Given the description of an element on the screen output the (x, y) to click on. 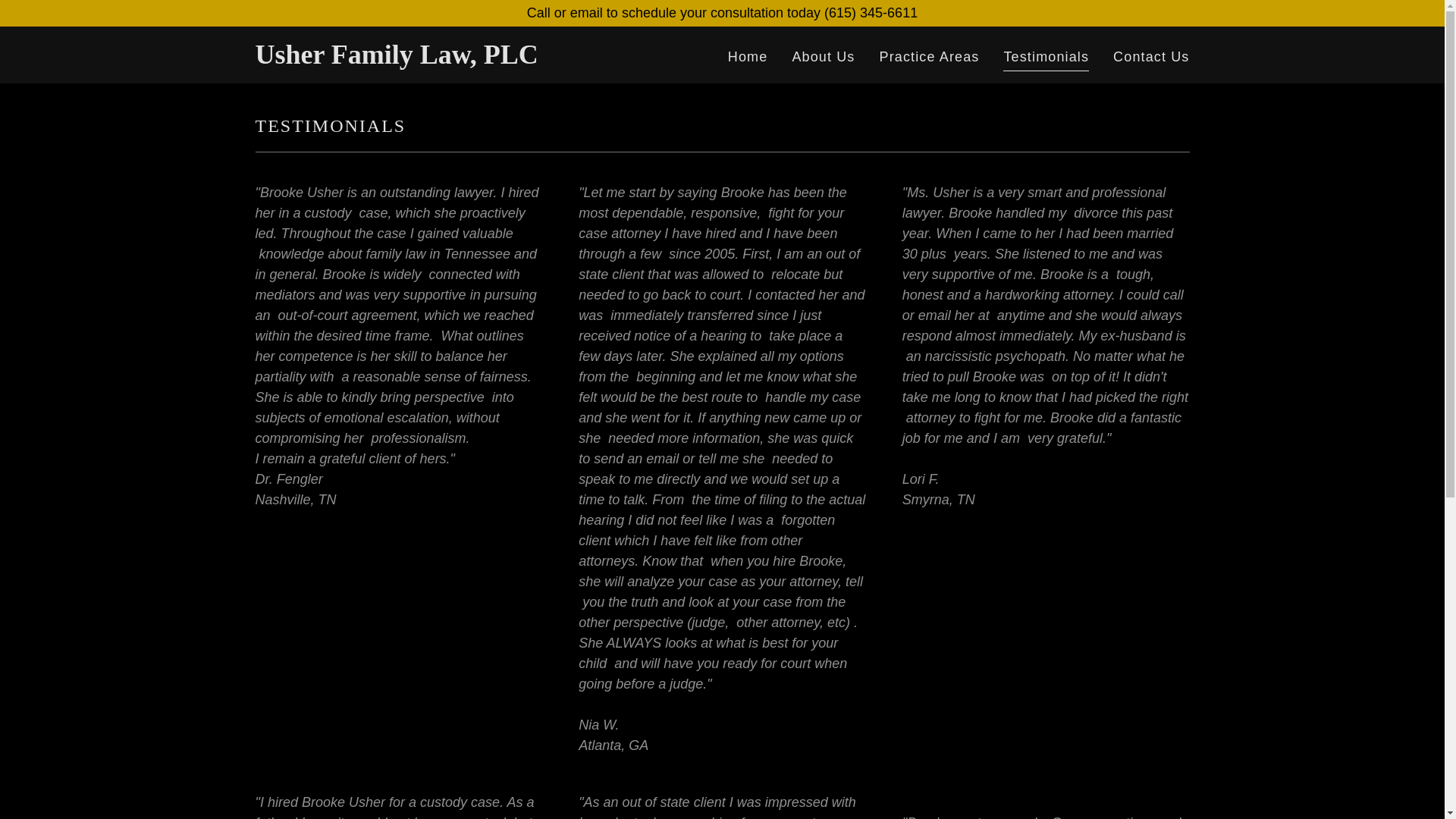
Contact Us (1150, 57)
Usher Family Law, PLC (417, 58)
Home (748, 57)
Practice Areas (929, 57)
About Us (823, 57)
Usher Family Law, PLC (417, 58)
Testimonials (1046, 58)
